Given the description of an element on the screen output the (x, y) to click on. 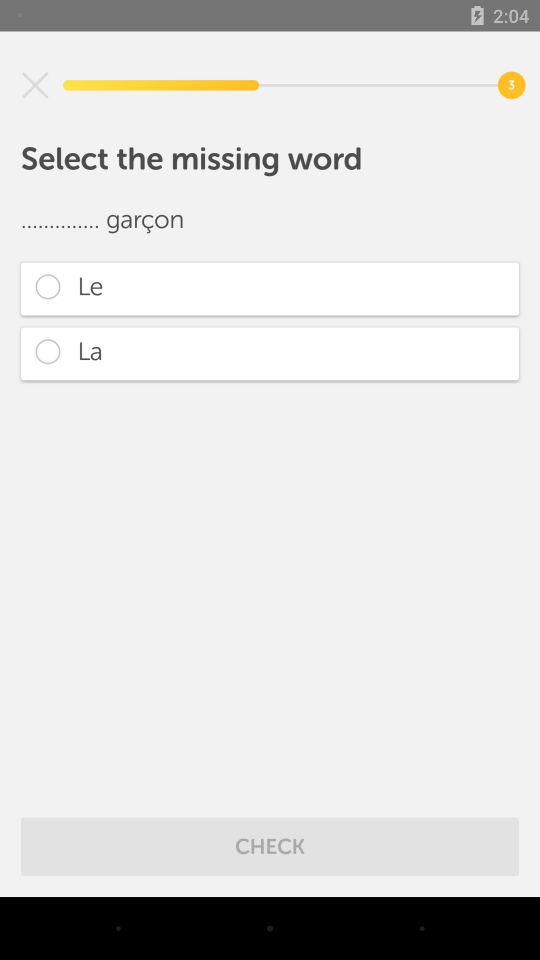
choose the icon above select the missing icon (35, 85)
